Given the description of an element on the screen output the (x, y) to click on. 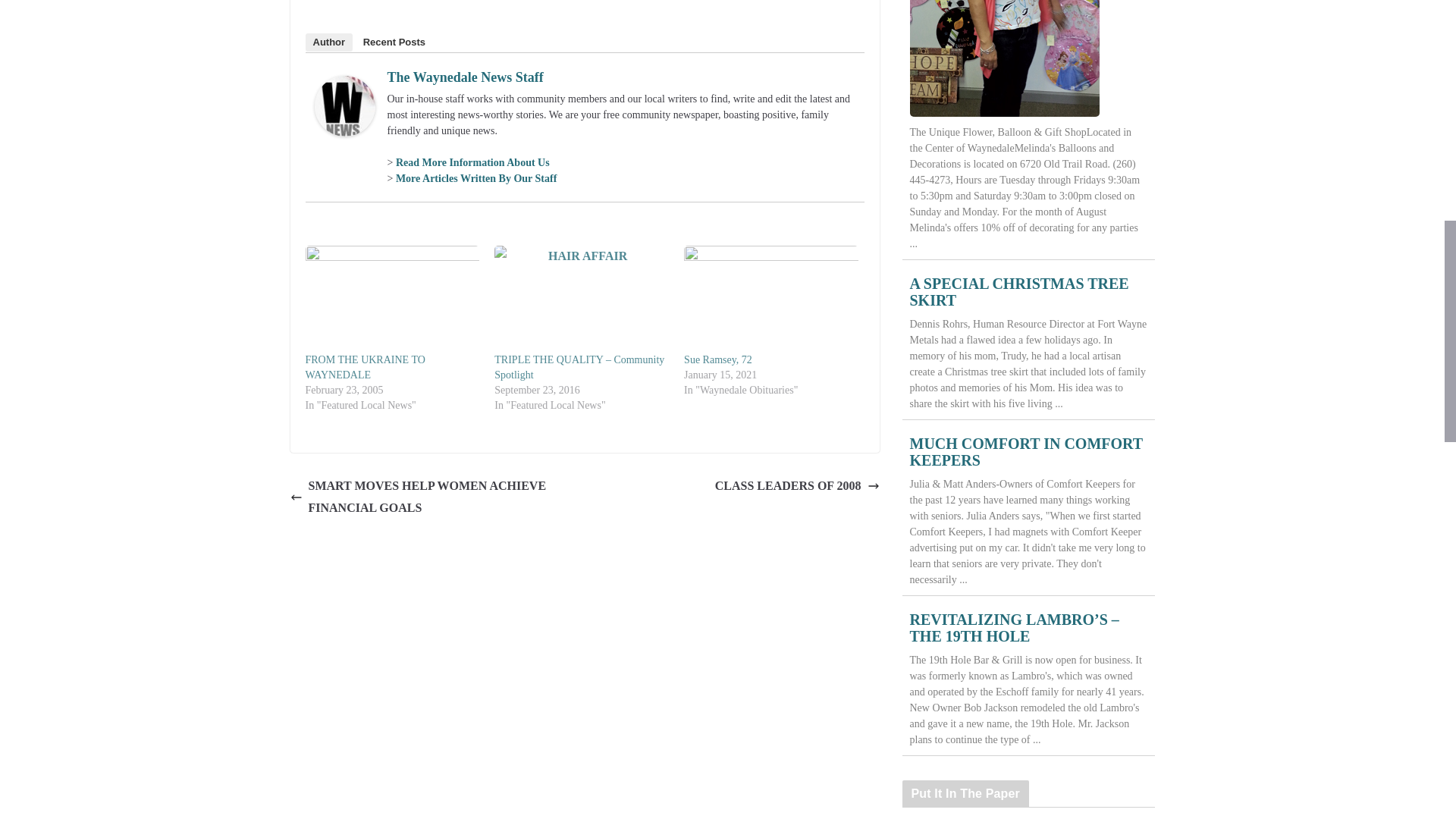
FROM THE UKRAINE TO WAYNEDALE (364, 366)
The Waynedale News Staff (465, 77)
Author (328, 42)
Recent Posts (393, 42)
More Articles Written By Our Staff (476, 178)
FROM THE UKRAINE TO WAYNEDALE (364, 366)
Read More Information About Us (473, 162)
